Given the description of an element on the screen output the (x, y) to click on. 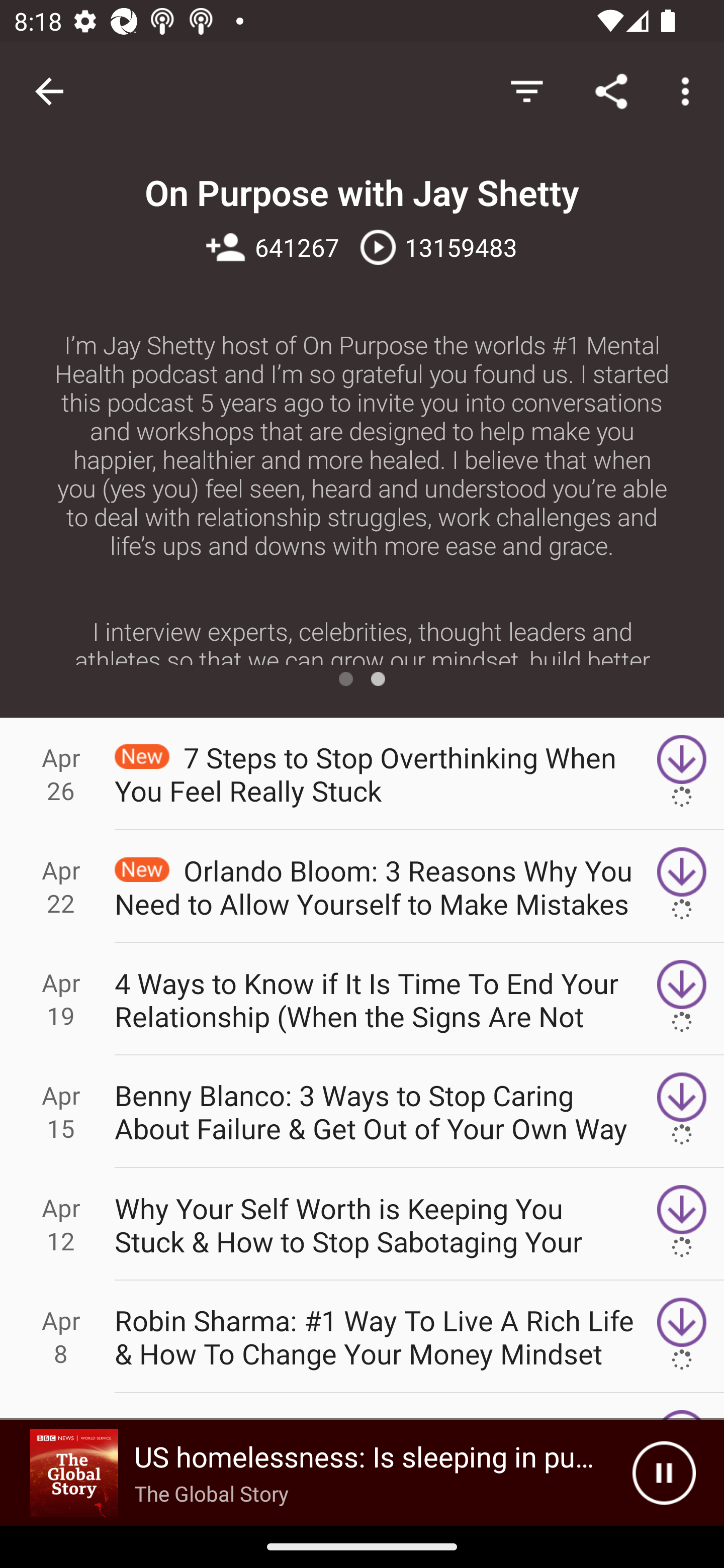
Navigate up (49, 91)
Hide Episodes (526, 90)
Share Link (611, 90)
More options (688, 90)
Download  (681, 773)
Download  (681, 885)
Download  (681, 998)
Download  (681, 1111)
Download  (681, 1224)
Download  (681, 1336)
Pause (663, 1472)
